Given the description of an element on the screen output the (x, y) to click on. 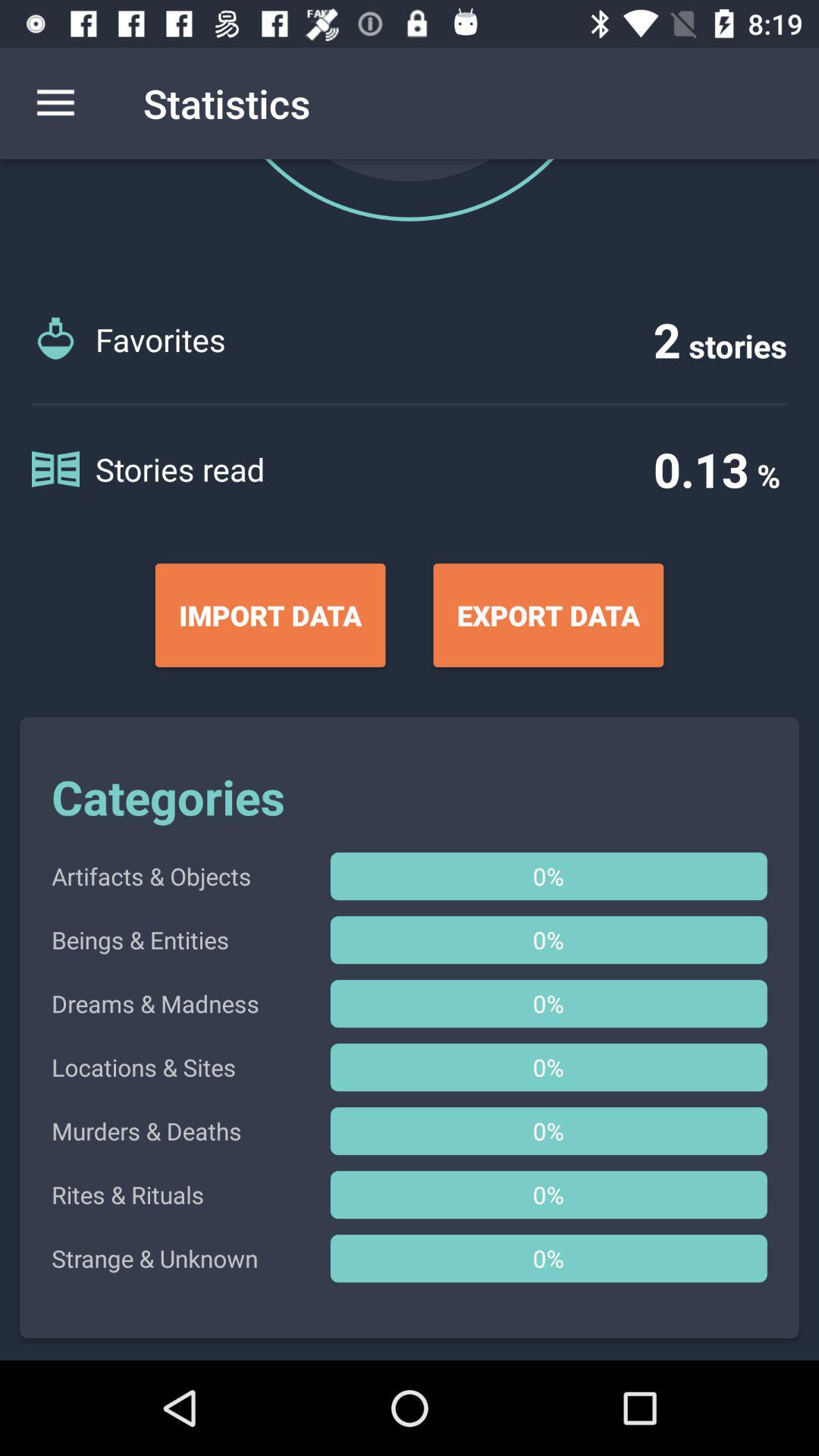
launch the item above categories (270, 615)
